Given the description of an element on the screen output the (x, y) to click on. 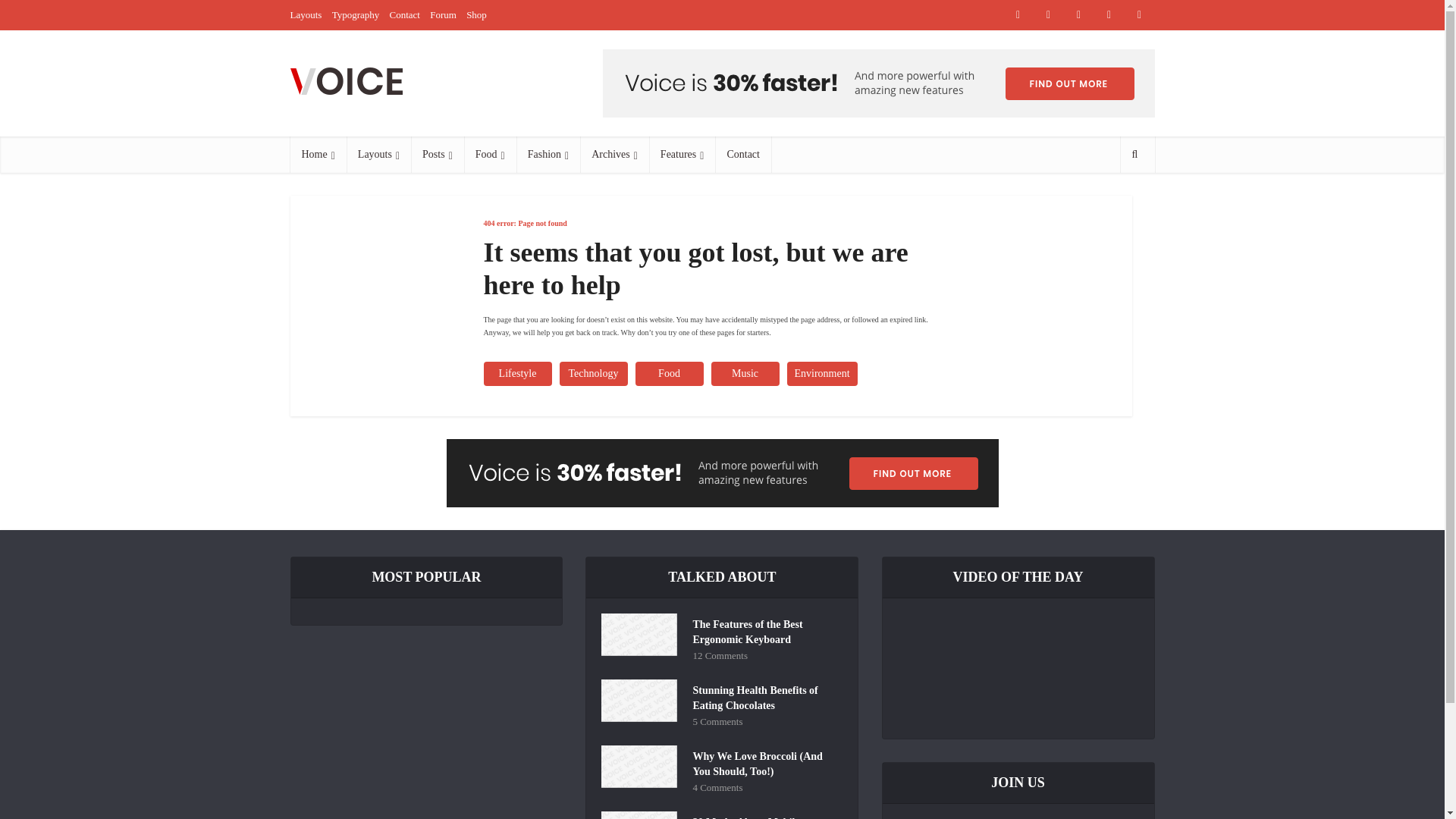
The Features of the Best Ergonomic Keyboard (764, 630)
Shop (475, 14)
Layouts (378, 154)
Contact (405, 14)
Stunning Health Benefits of Eating Chocolates (764, 696)
Home (317, 154)
Typography (355, 14)
Posts (437, 154)
Layouts (305, 14)
20 Myths About Mobile Devices (764, 815)
Forum (443, 14)
